Given the description of an element on the screen output the (x, y) to click on. 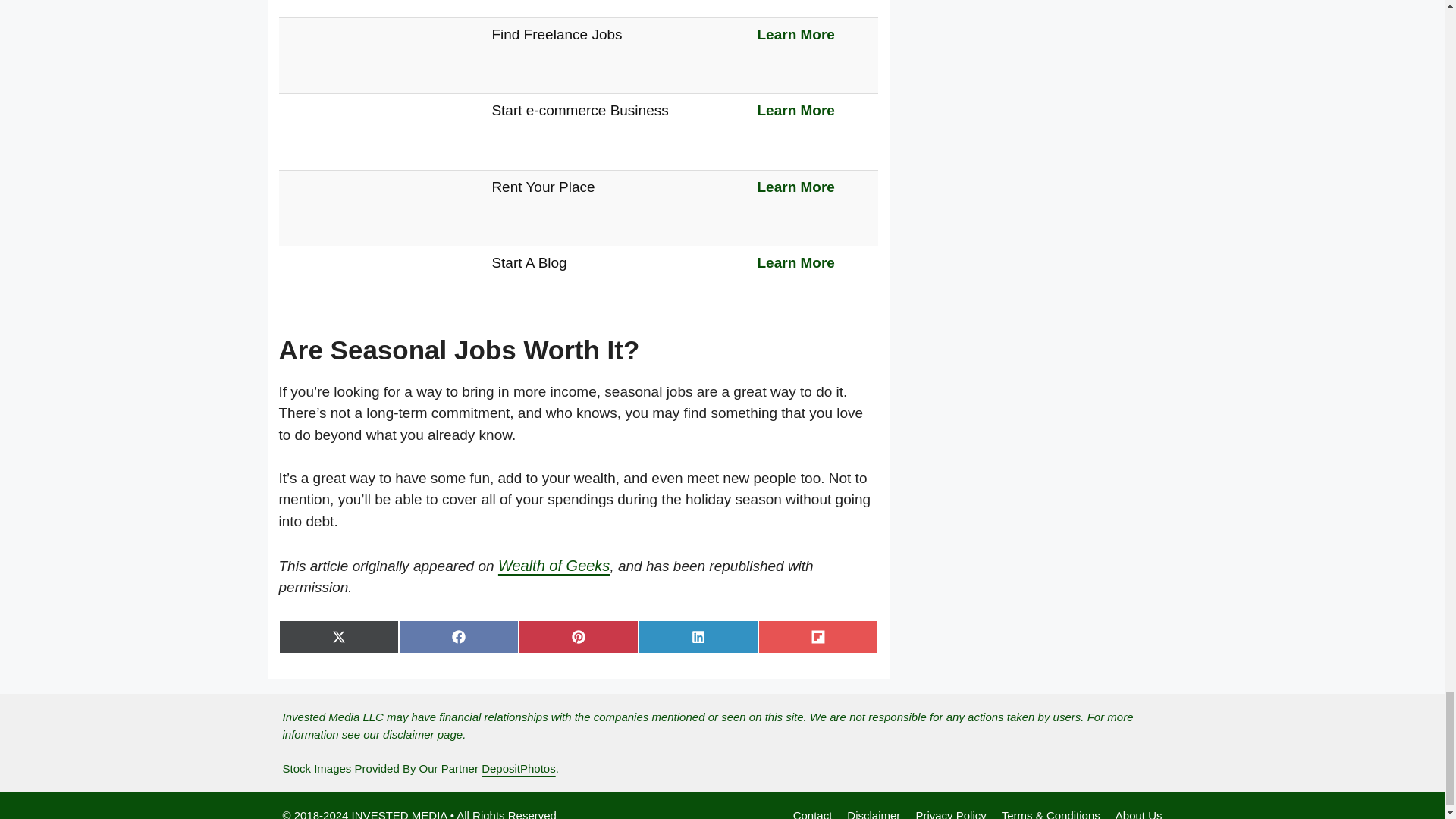
11 Best Seasonal Jobs To Apply For This Holiday Season (341, 151)
11 Best Seasonal Jobs To Apply For This Holiday Season (341, 3)
11 Best Seasonal Jobs To Apply For This Holiday Season (341, 304)
11 Best Seasonal Jobs To Apply For This Holiday Season (341, 75)
11 Best Seasonal Jobs To Apply For This Holiday Season (341, 228)
